Given the description of an element on the screen output the (x, y) to click on. 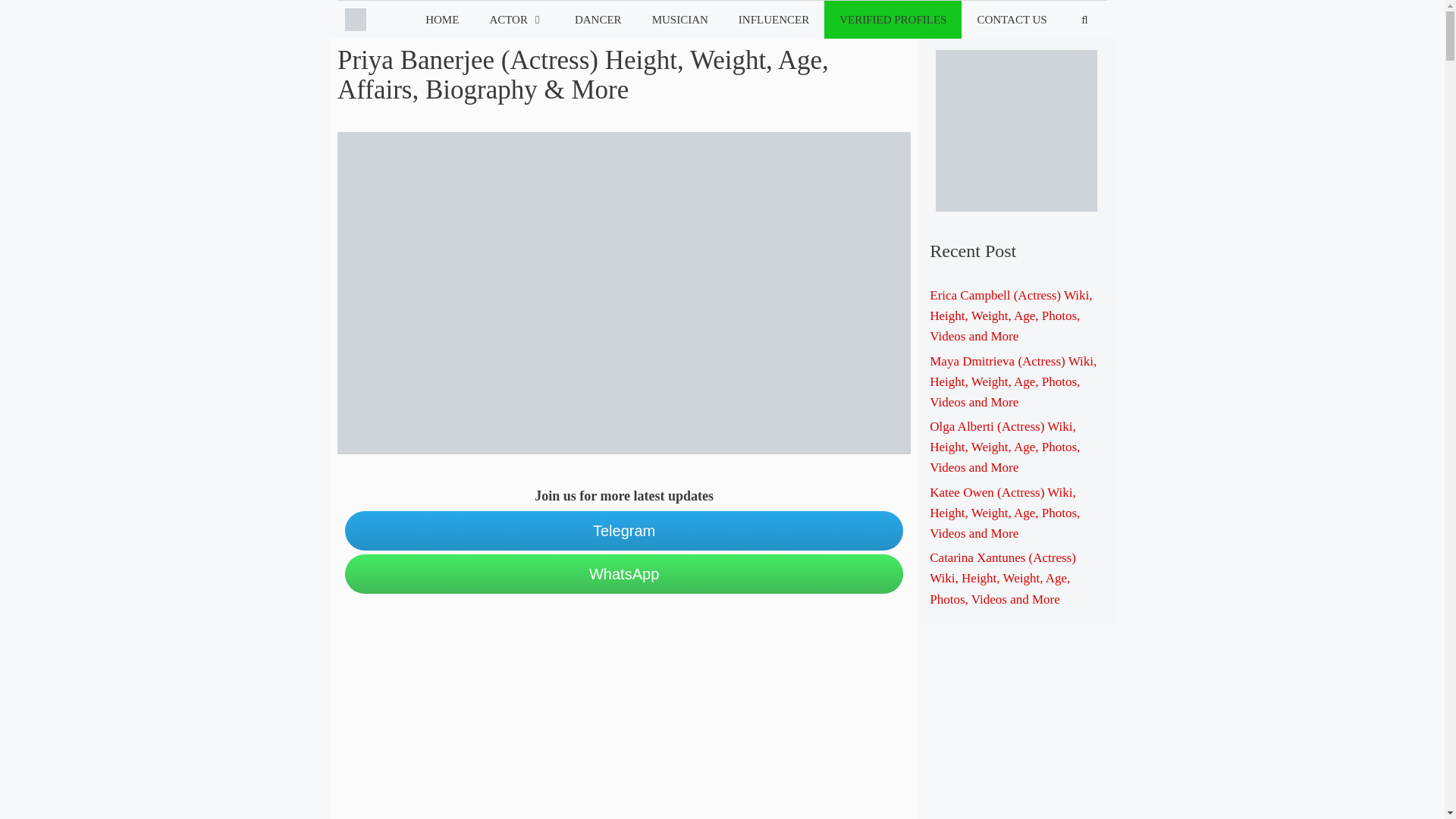
HOME (442, 19)
CONTACT US (1010, 19)
ACTOR (516, 19)
DANCER (598, 19)
Advertisement (624, 713)
MUSICIAN (680, 19)
INFLUENCER (773, 19)
VERIFIED PROFILES (892, 19)
